Given the description of an element on the screen output the (x, y) to click on. 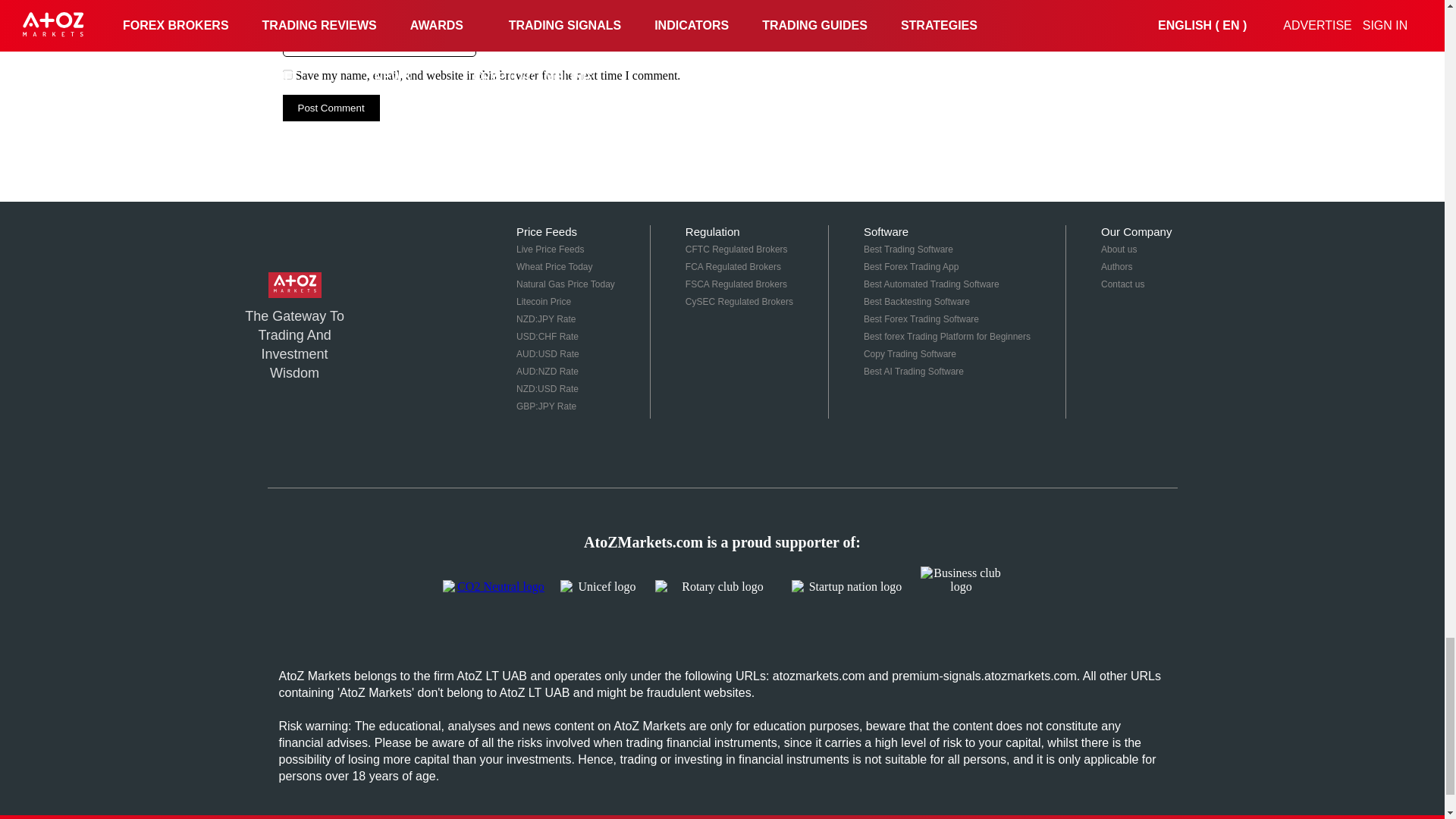
Post Comment (330, 108)
yes (287, 74)
